Given the description of an element on the screen output the (x, y) to click on. 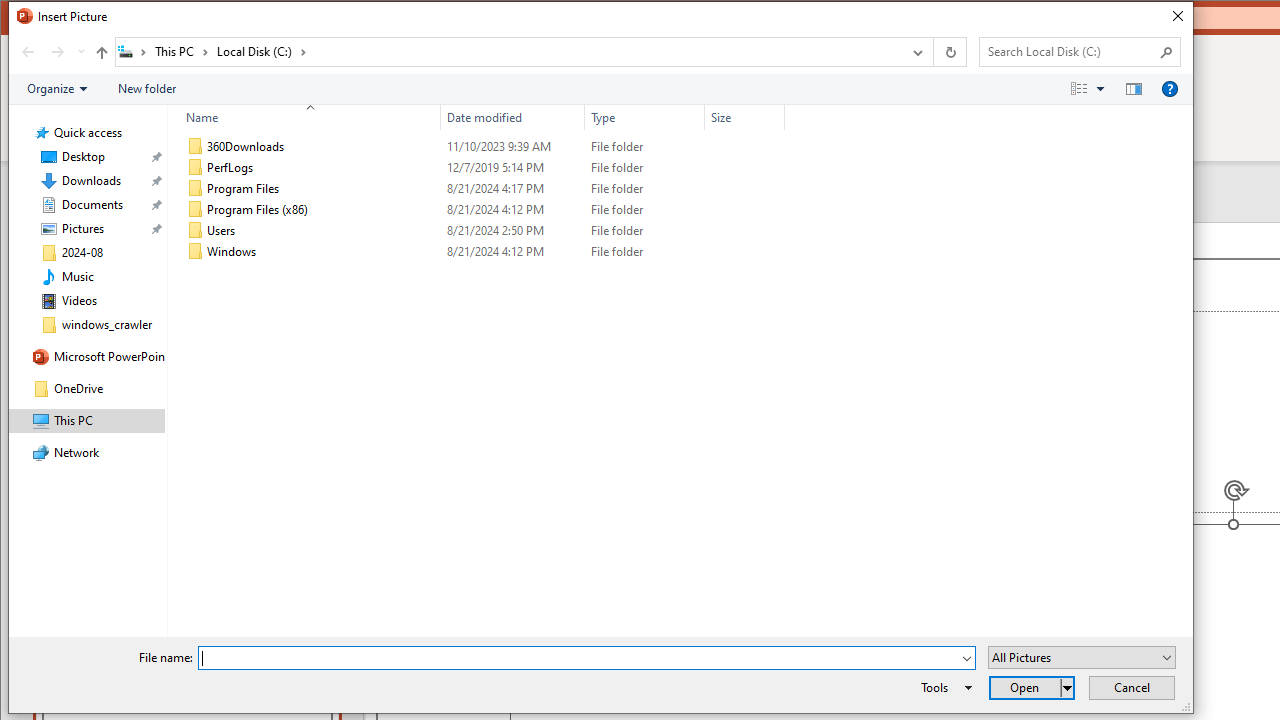
All locations (133, 51)
Preview pane (1134, 89)
Files of type: (1082, 656)
Forward (Alt + Right Arrow) (57, 51)
File name: (579, 658)
Windows (481, 251)
Address: C:\ (507, 51)
File name: (586, 657)
Date modified (512, 117)
Tools (943, 687)
This PC (181, 51)
Size (744, 251)
